Given the description of an element on the screen output the (x, y) to click on. 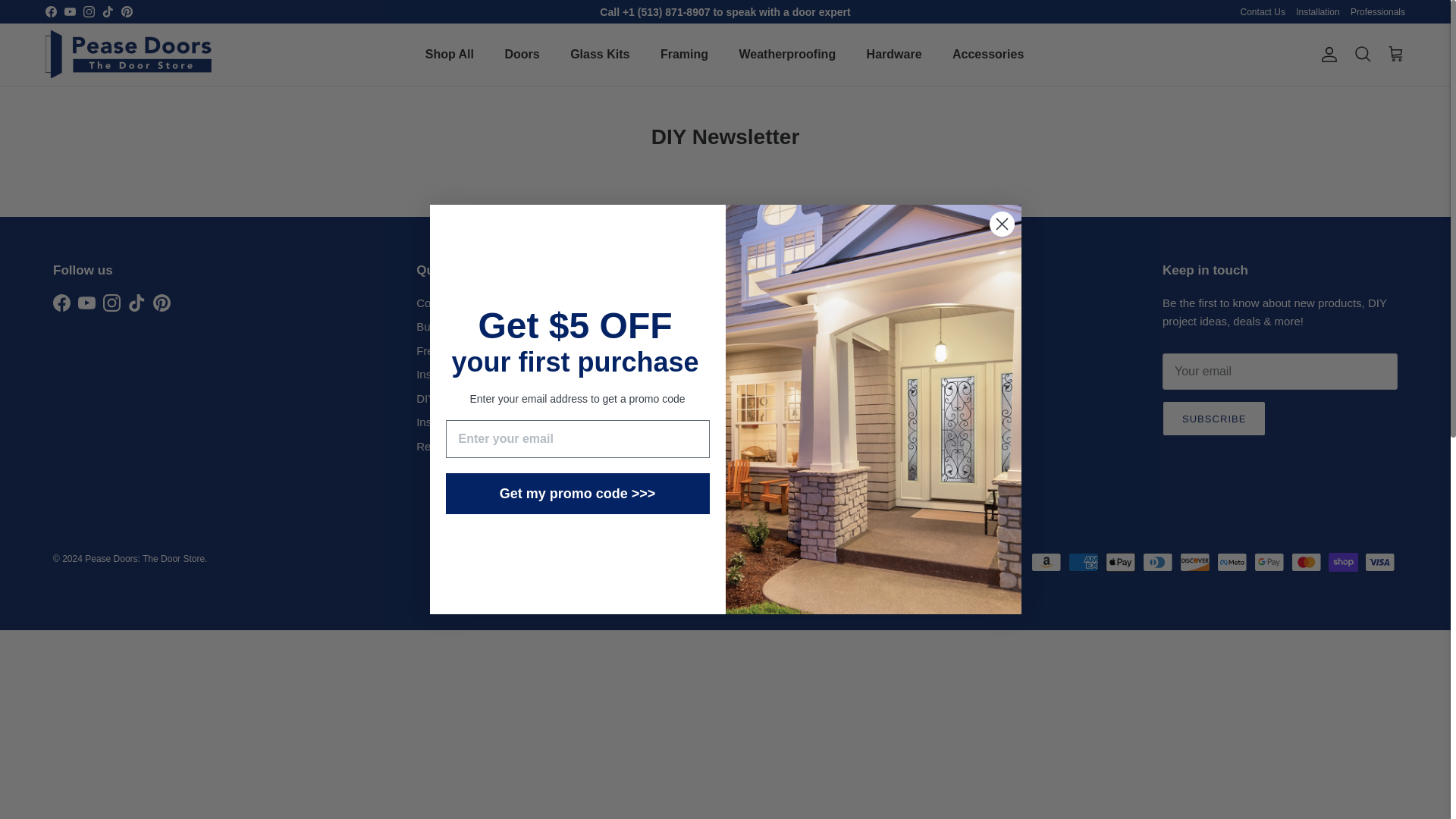
Meta Pay (1232, 561)
Weatherproofing (786, 54)
Discover (1194, 561)
Installation (1317, 11)
TikTok (107, 11)
Glass Kits (599, 54)
Pease Doors: The Door Store on YouTube (69, 11)
Pease Doors: The Door Store on Facebook (50, 11)
Search (1362, 53)
Accessories (987, 54)
Cart (1396, 53)
Account (1326, 54)
Framing (684, 54)
Facebook (50, 11)
Pease Doors: The Door Store on Facebook (60, 303)
